Given the description of an element on the screen output the (x, y) to click on. 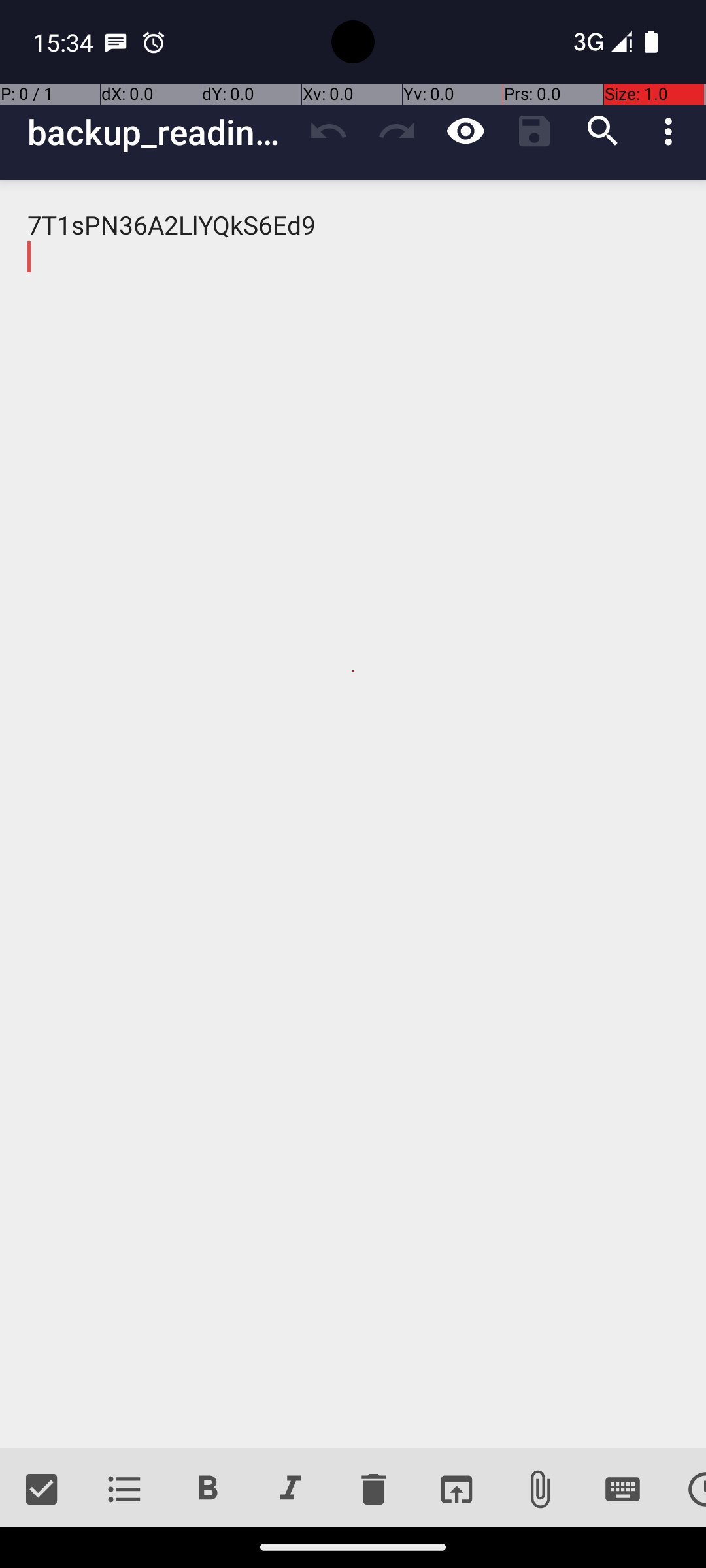
backup_reading_list_2024 Element type: android.widget.TextView (160, 131)
7T1sPN36A2LlYQkS6Ed9
 Element type: android.widget.EditText (353, 813)
